Given the description of an element on the screen output the (x, y) to click on. 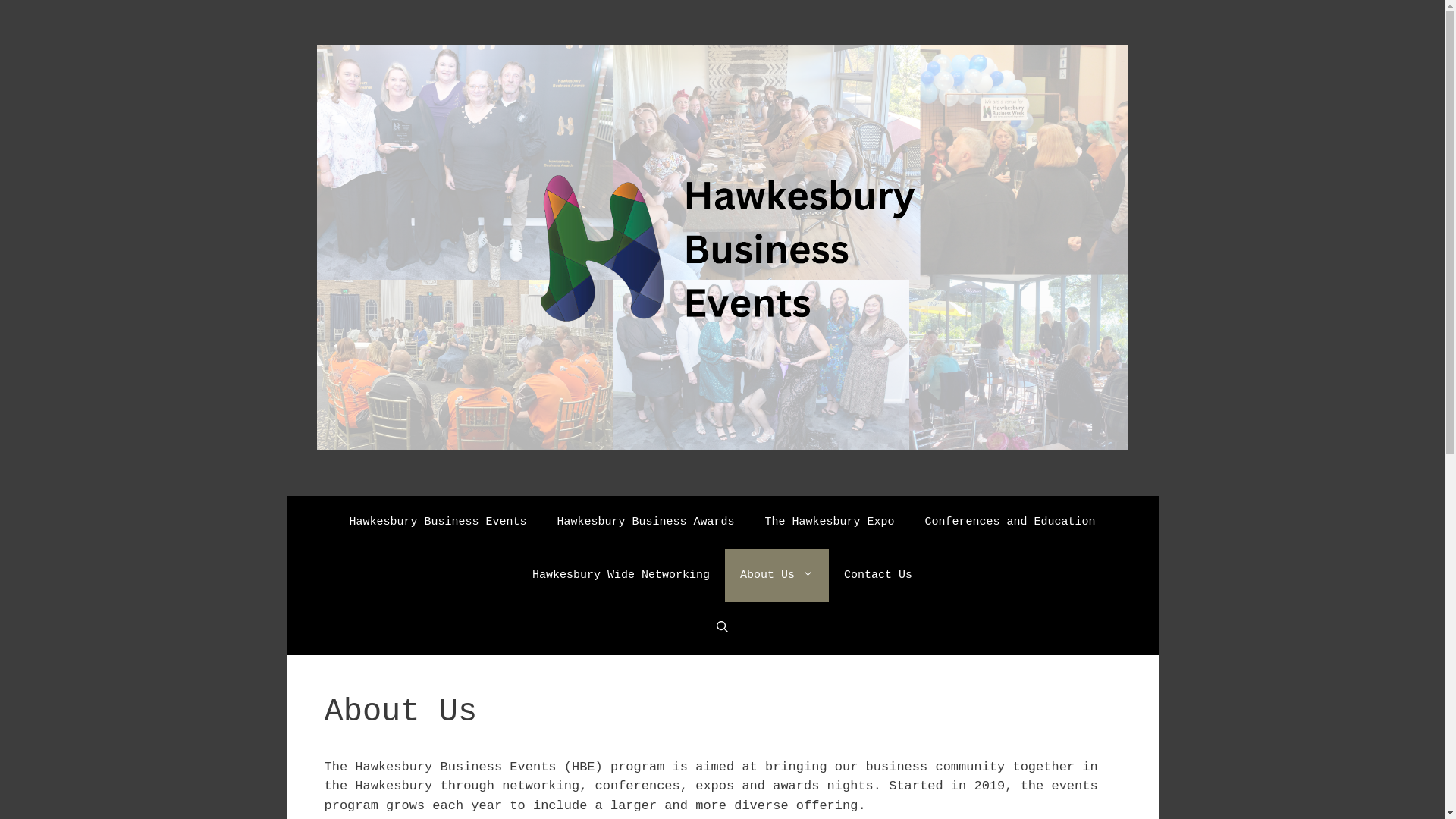
Conferences and Education Element type: text (1010, 522)
Hawkesbury Business Events Element type: text (437, 522)
Hawkesbury Business Awards Element type: text (645, 522)
Hawkesbury Wide Networking Element type: text (620, 575)
Contact Us Element type: text (877, 575)
The Hawkesbury Expo Element type: text (829, 522)
About Us Element type: text (776, 575)
